Given the description of an element on the screen output the (x, y) to click on. 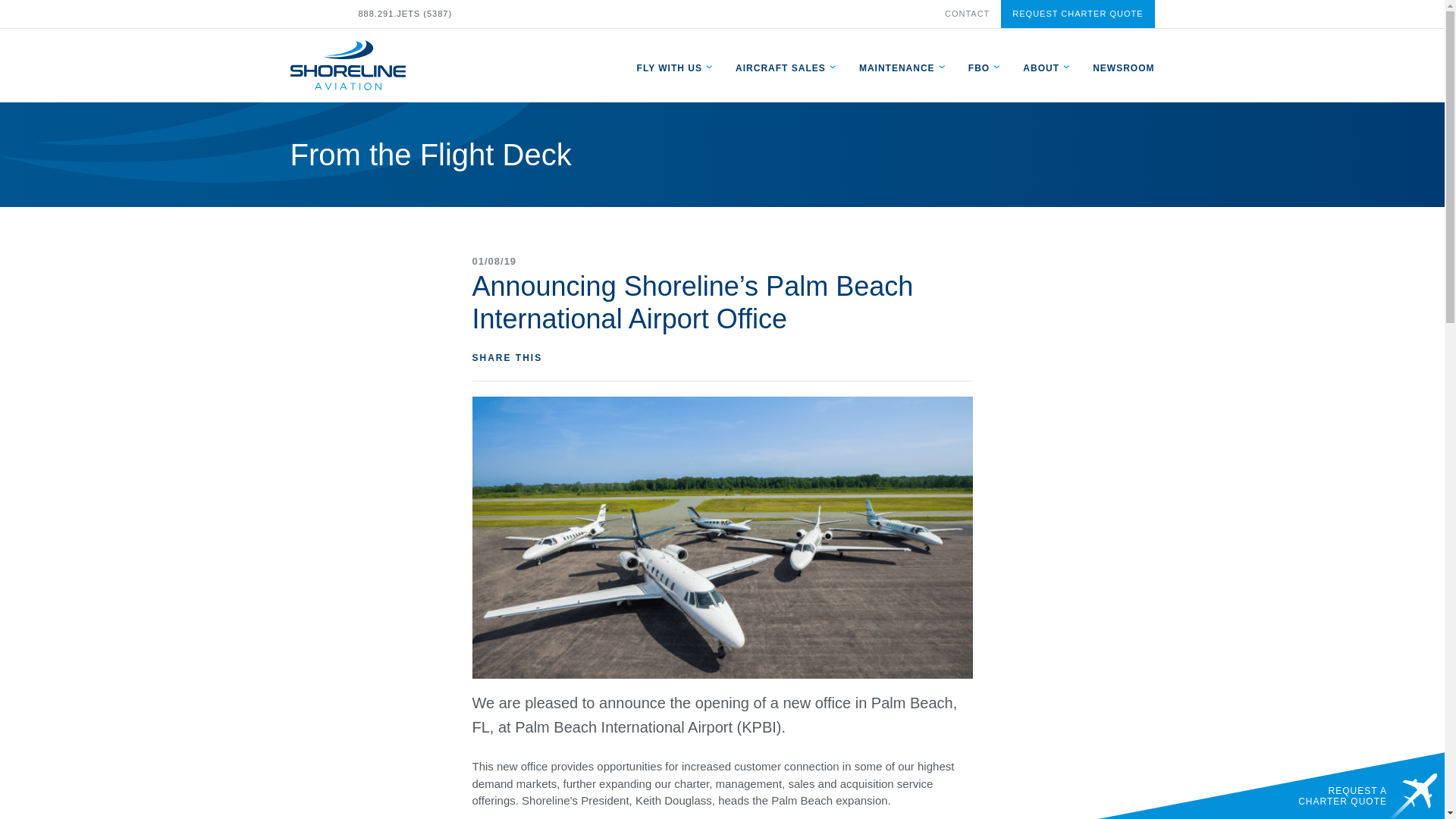
FBO (979, 67)
CONTACT (967, 13)
FLY WITH US (669, 67)
REQUEST CHARTER QUOTE (1077, 13)
MAINTENANCE (896, 67)
NEWSROOM (1123, 67)
ABOUT (1041, 67)
AIRCRAFT SALES (780, 67)
